Given the description of an element on the screen output the (x, y) to click on. 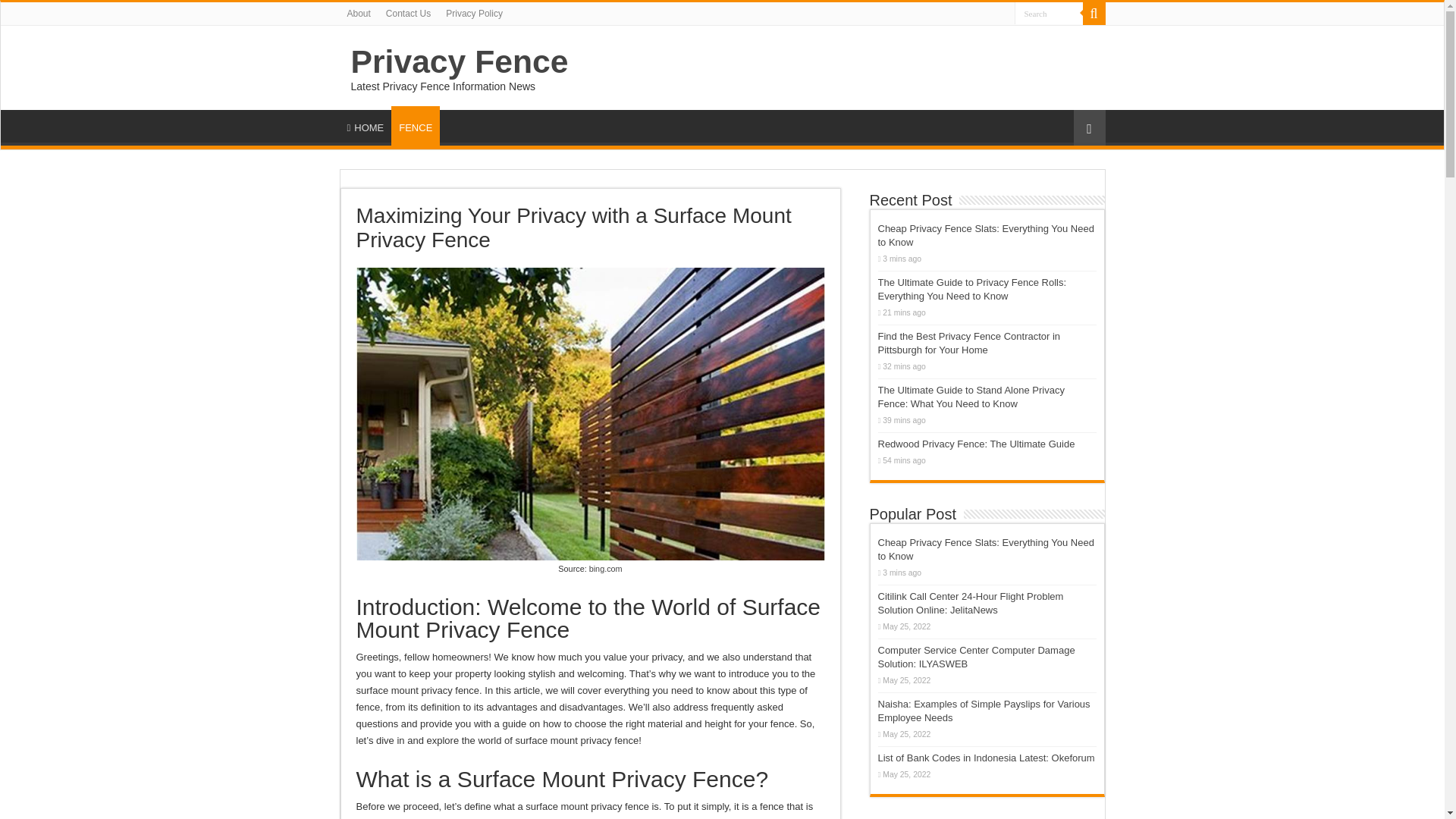
About (358, 13)
Search (1048, 13)
Random Article (1089, 127)
Privacy Fence (458, 61)
Cheap Privacy Fence Slats: Everything You Need to Know (985, 549)
Search (1094, 13)
bing.com (606, 568)
Redwood Privacy Fence: The Ultimate Guide (976, 443)
Cheap Privacy Fence Slats: Everything You Need to Know (985, 235)
FENCE (415, 125)
